Given the description of an element on the screen output the (x, y) to click on. 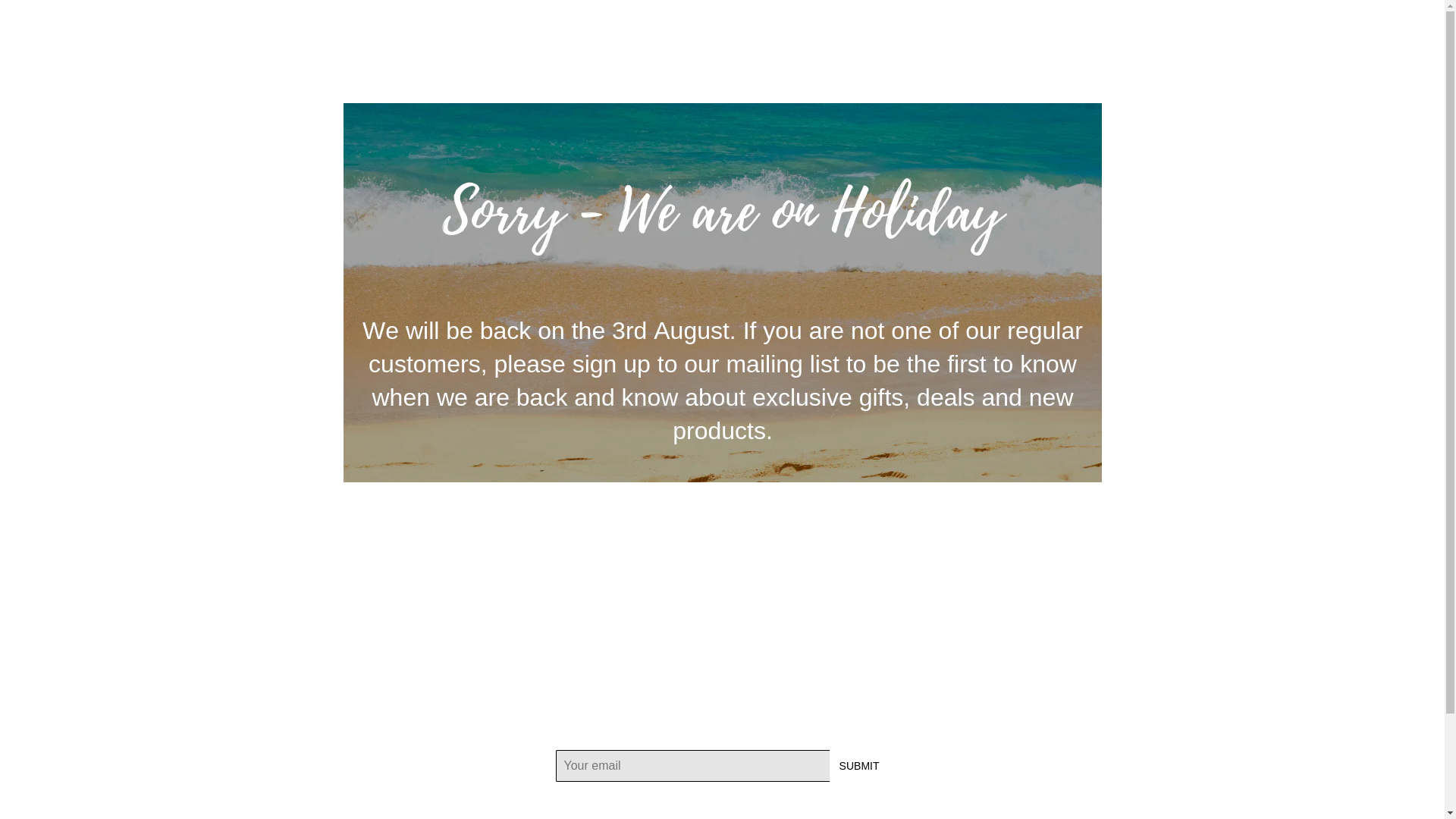
Lock icon Enter using password (1364, 29)
Lock icon (1311, 27)
Submit (859, 766)
Submit (859, 766)
